Given the description of an element on the screen output the (x, y) to click on. 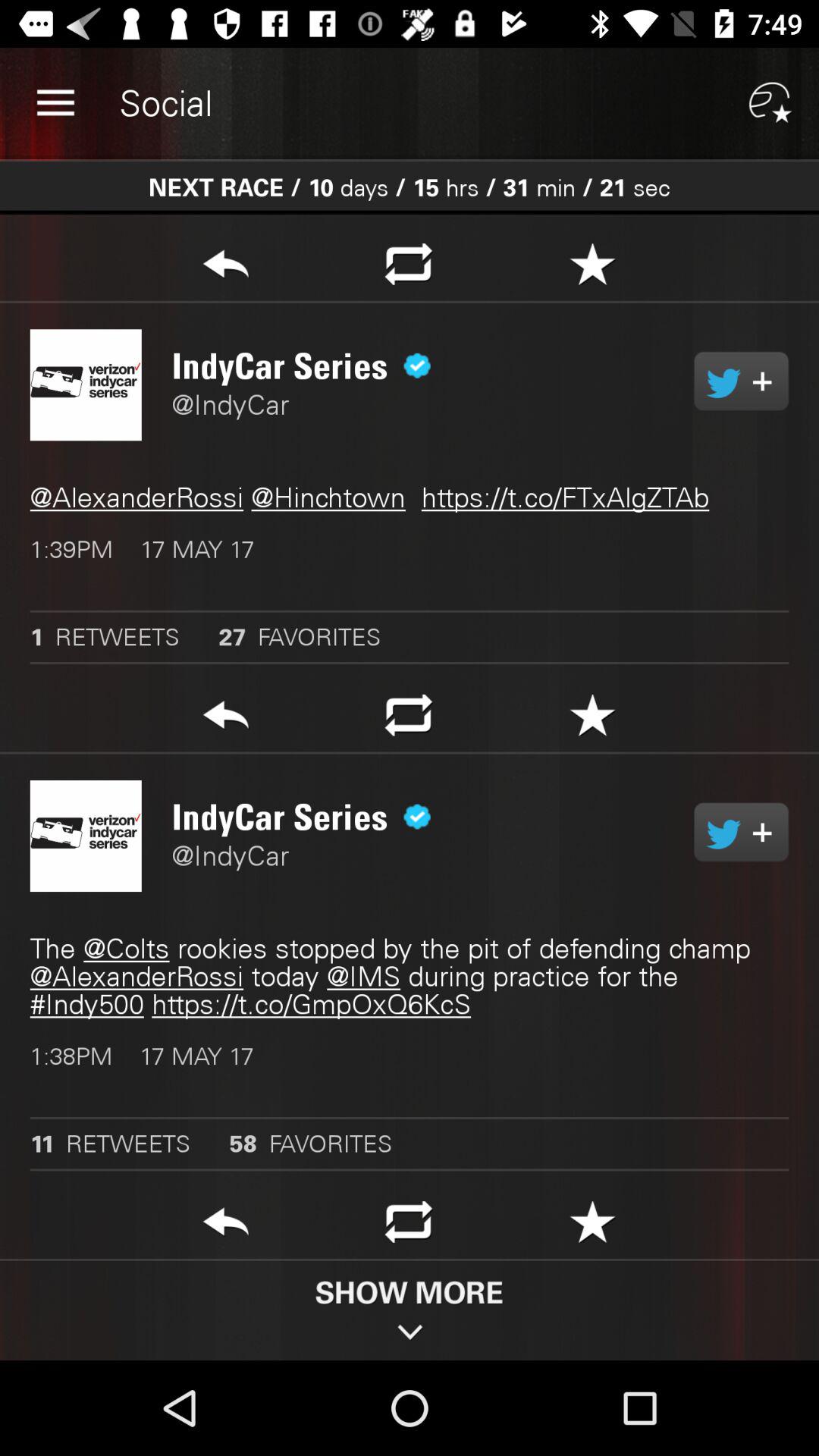
twitter link (740, 831)
